Given the description of an element on the screen output the (x, y) to click on. 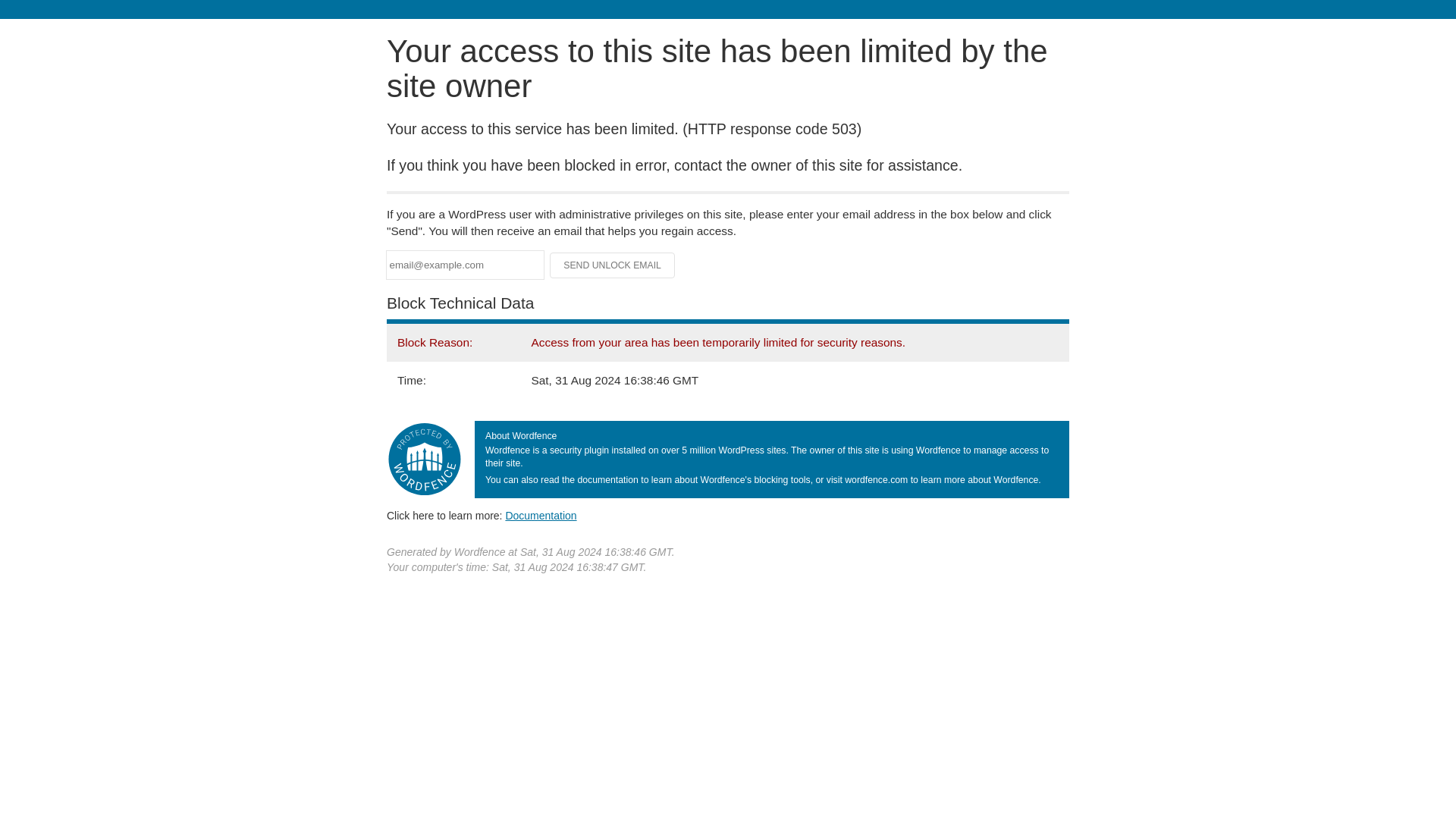
Send Unlock Email (612, 265)
Documentation (540, 515)
Send Unlock Email (612, 265)
